Given the description of an element on the screen output the (x, y) to click on. 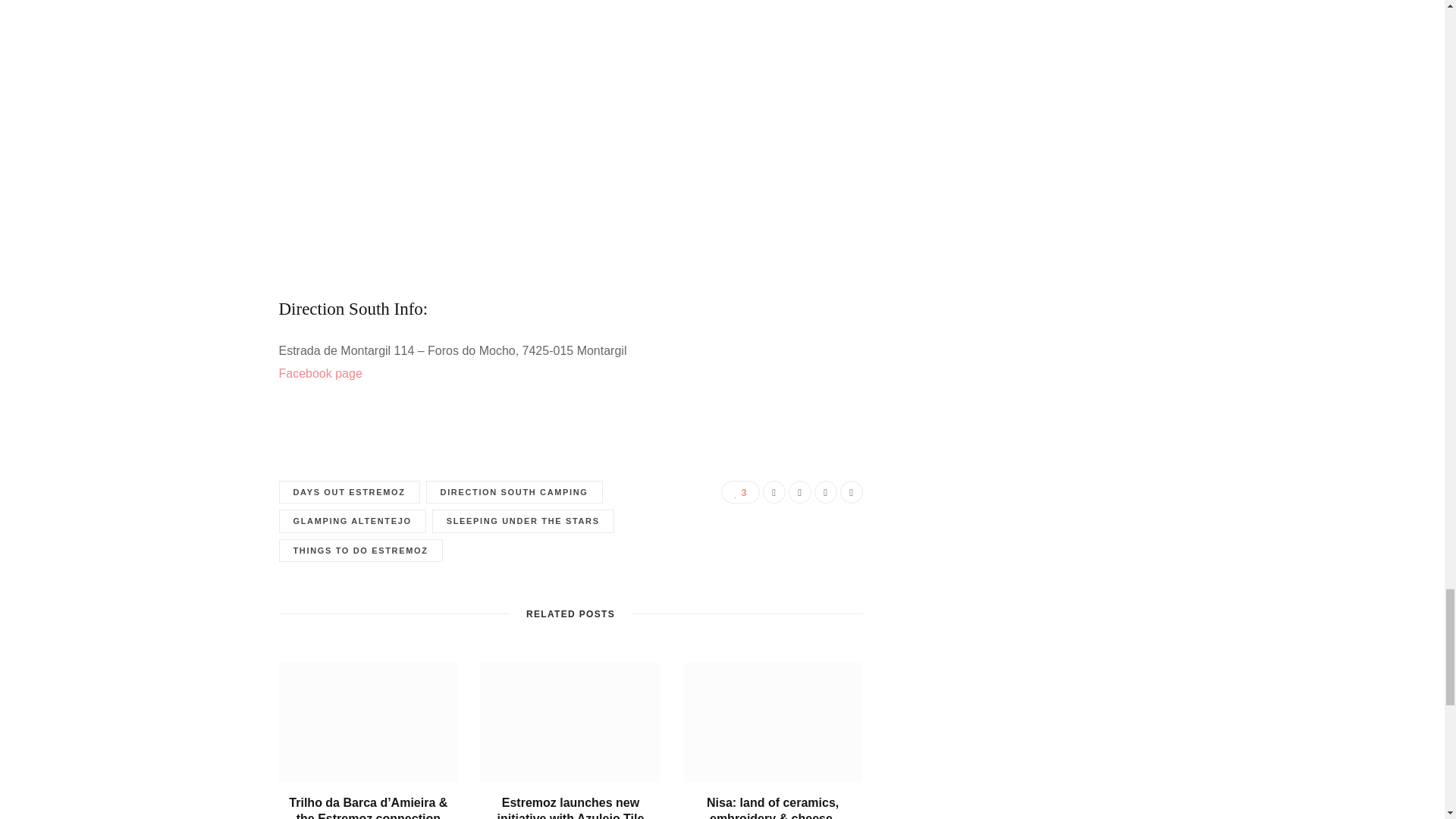
Email (851, 491)
Twitter (799, 491)
DIRECTION SOUTH CAMPING (514, 492)
3 (739, 491)
Facebook page  (322, 373)
SLEEPING UNDER THE STARS (523, 521)
GLAMPING ALTENTEJO (352, 521)
Facebook (774, 491)
DAYS OUT ESTREMOZ (349, 492)
THINGS TO DO ESTREMOZ (360, 550)
Pinterest (825, 491)
